Given the description of an element on the screen output the (x, y) to click on. 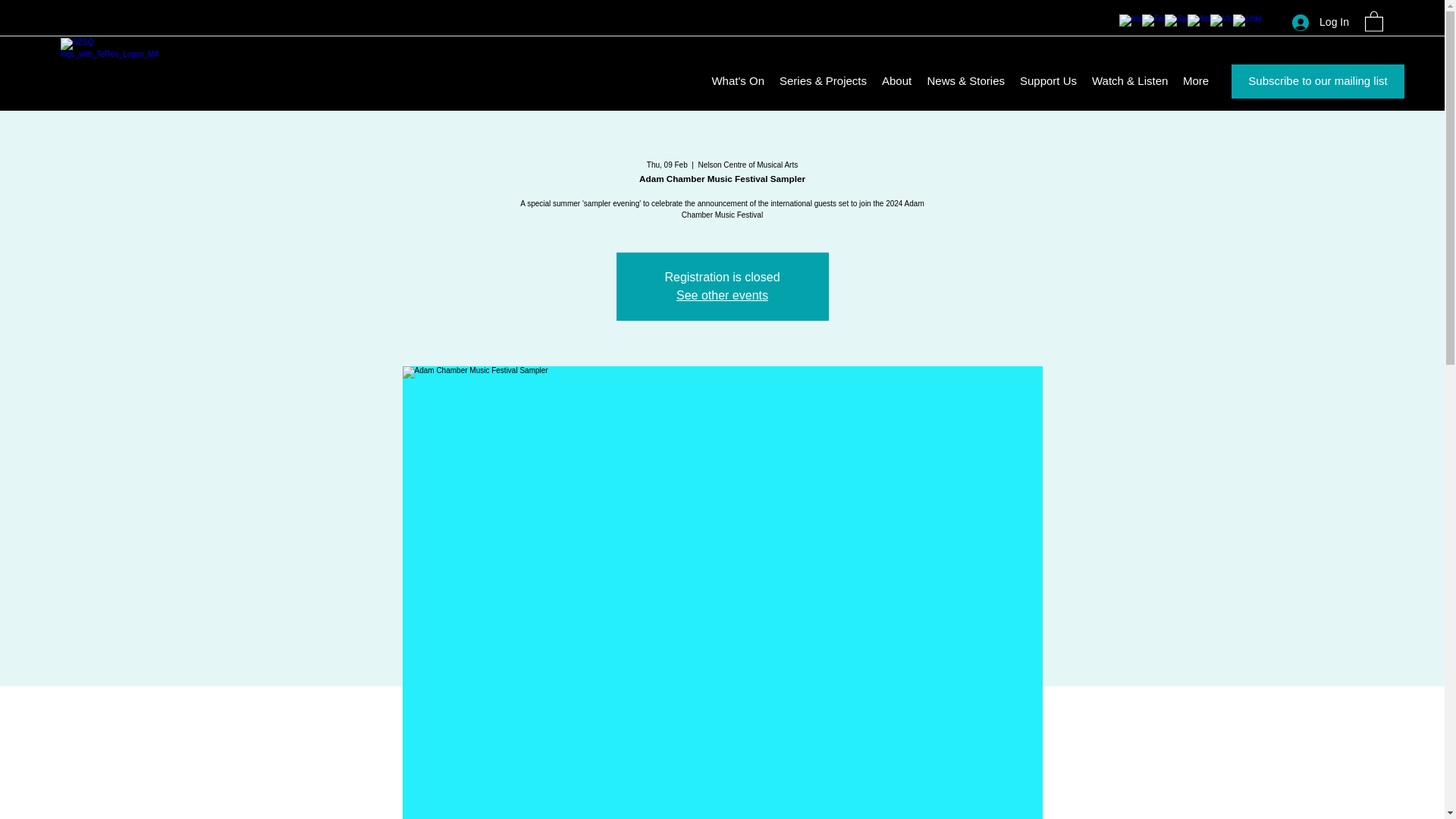
Subscribe to our mailing list (1318, 81)
Support Us (1047, 80)
See other events (722, 295)
Log In (1320, 22)
